Given the description of an element on the screen output the (x, y) to click on. 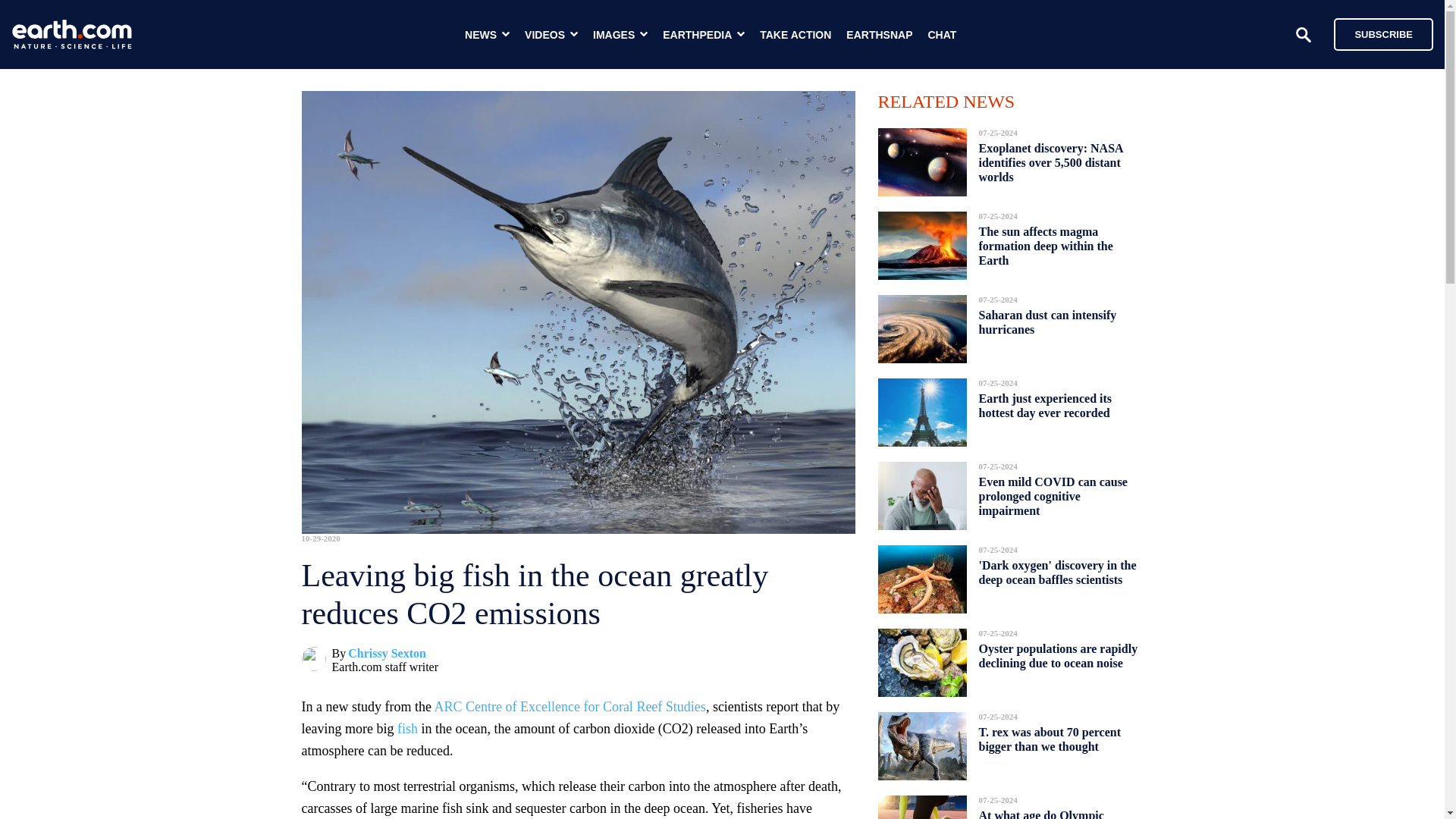
SUBSCRIBE (1382, 34)
'Dark oxygen' discovery in the deep ocean baffles scientists (1056, 572)
fish (407, 728)
Earth just experienced its hottest day ever recorded (1045, 405)
Saharan dust can intensify hurricanes (1047, 322)
T. rex was about 70 percent bigger than we thought (1049, 739)
Even mild COVID can cause prolonged cognitive impairment (1052, 495)
Oyster populations are rapidly declining due to ocean noise (1057, 655)
At what age do Olympic athletes perform their best? (1049, 810)
SUBSCRIBE (1375, 33)
TAKE ACTION (795, 34)
EARTHSNAP (878, 34)
CHAT (941, 34)
ARC Centre of Excellence for Coral Reef Studies (568, 706)
